Given the description of an element on the screen output the (x, y) to click on. 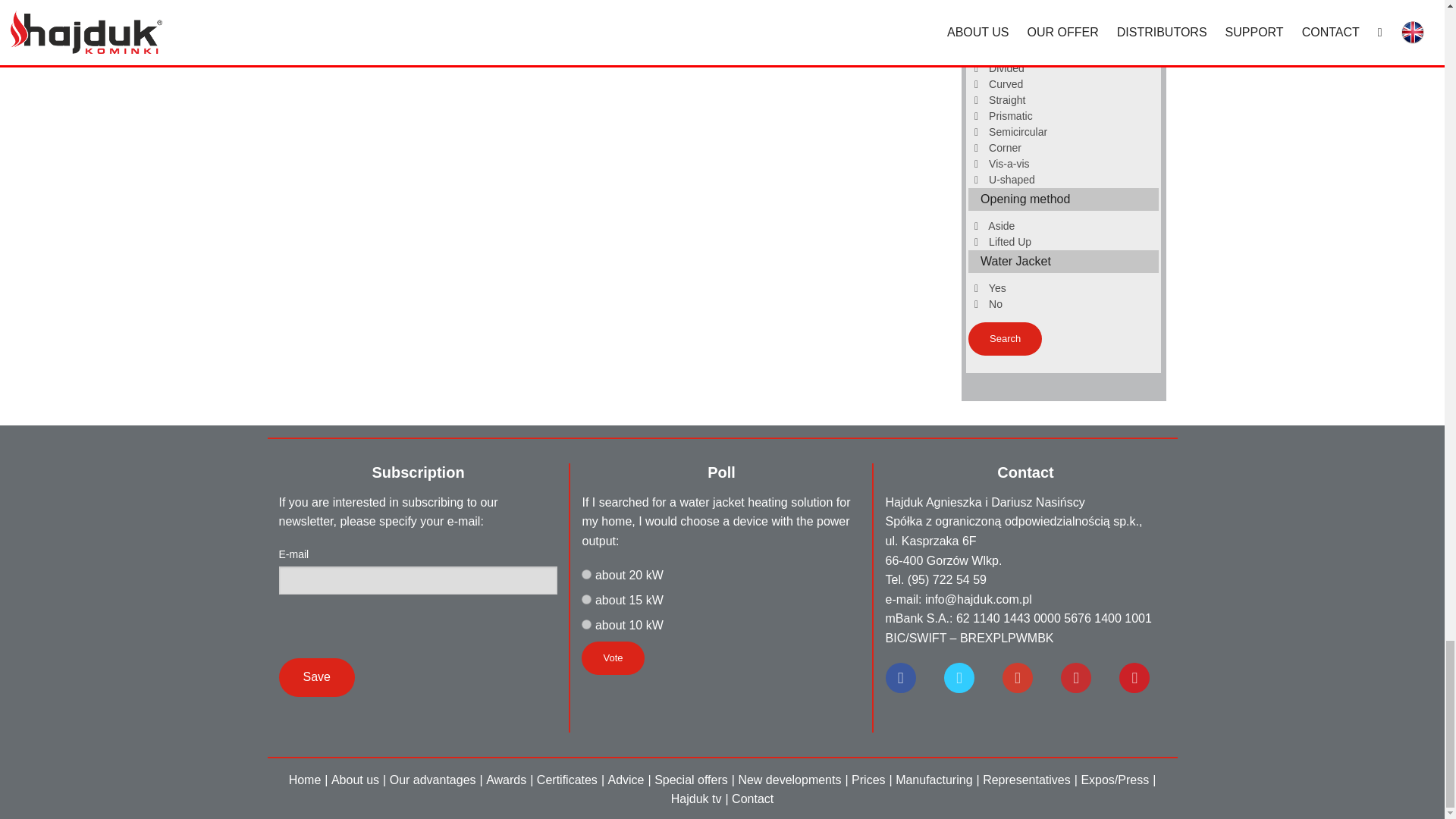
Save (317, 677)
15 (585, 599)
16 (585, 624)
14 (585, 574)
Search (1005, 338)
Vote (611, 657)
